Given the description of an element on the screen output the (x, y) to click on. 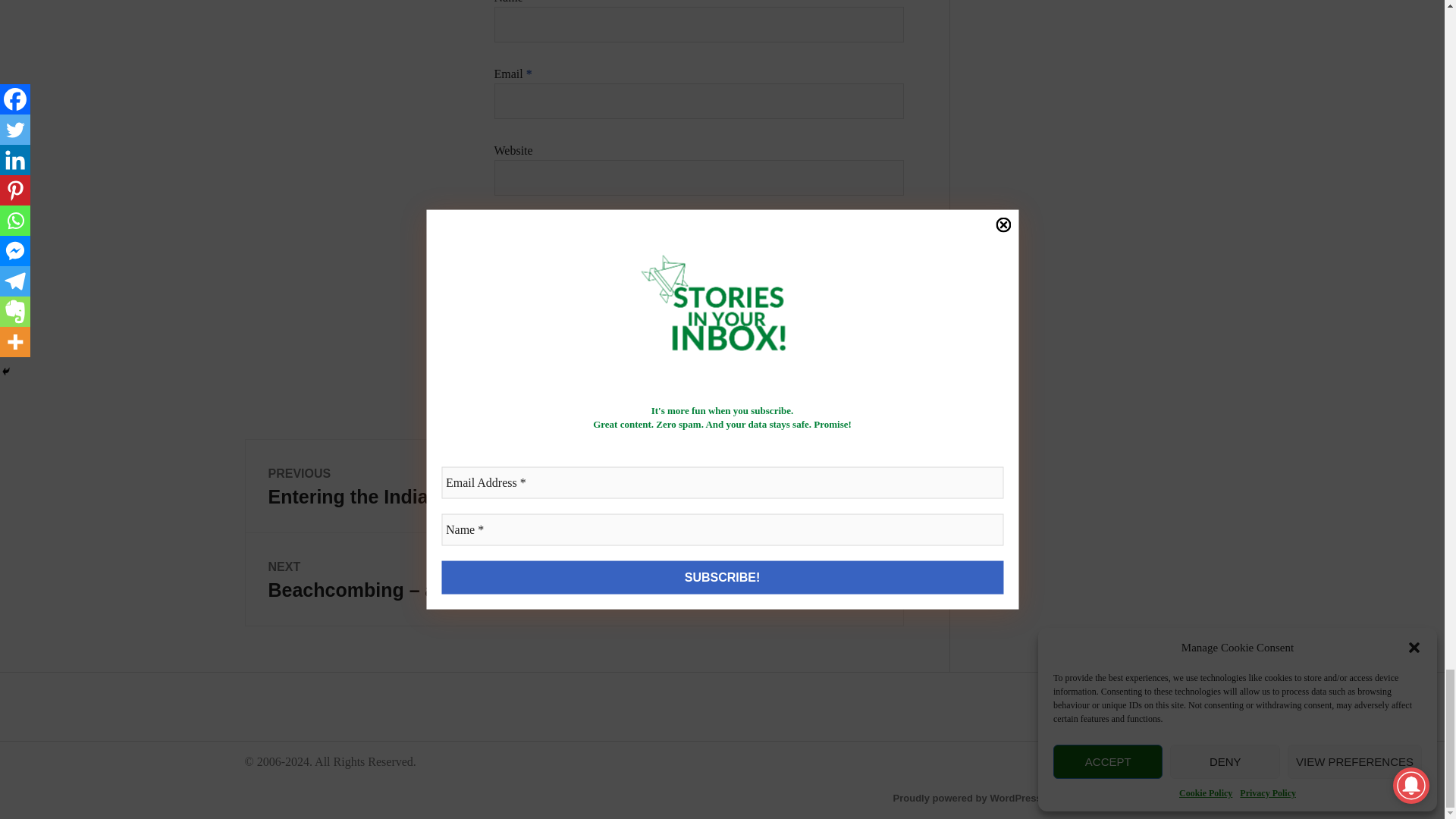
1 (499, 266)
Post Comment (555, 317)
yes (499, 225)
